Given the description of an element on the screen output the (x, y) to click on. 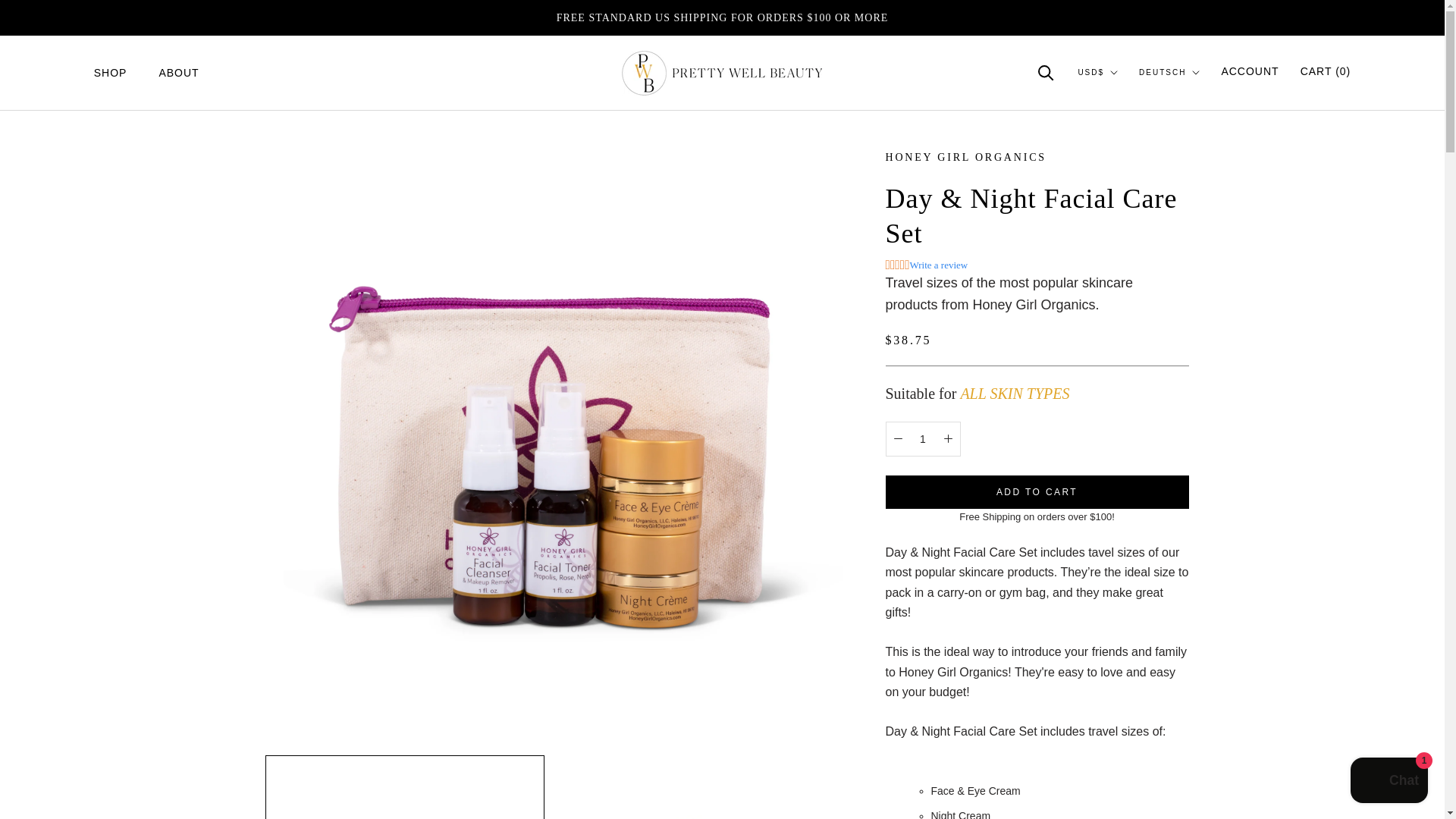
1 (923, 439)
Onlineshop-Chat von Shopify (1388, 781)
